Given the description of an element on the screen output the (x, y) to click on. 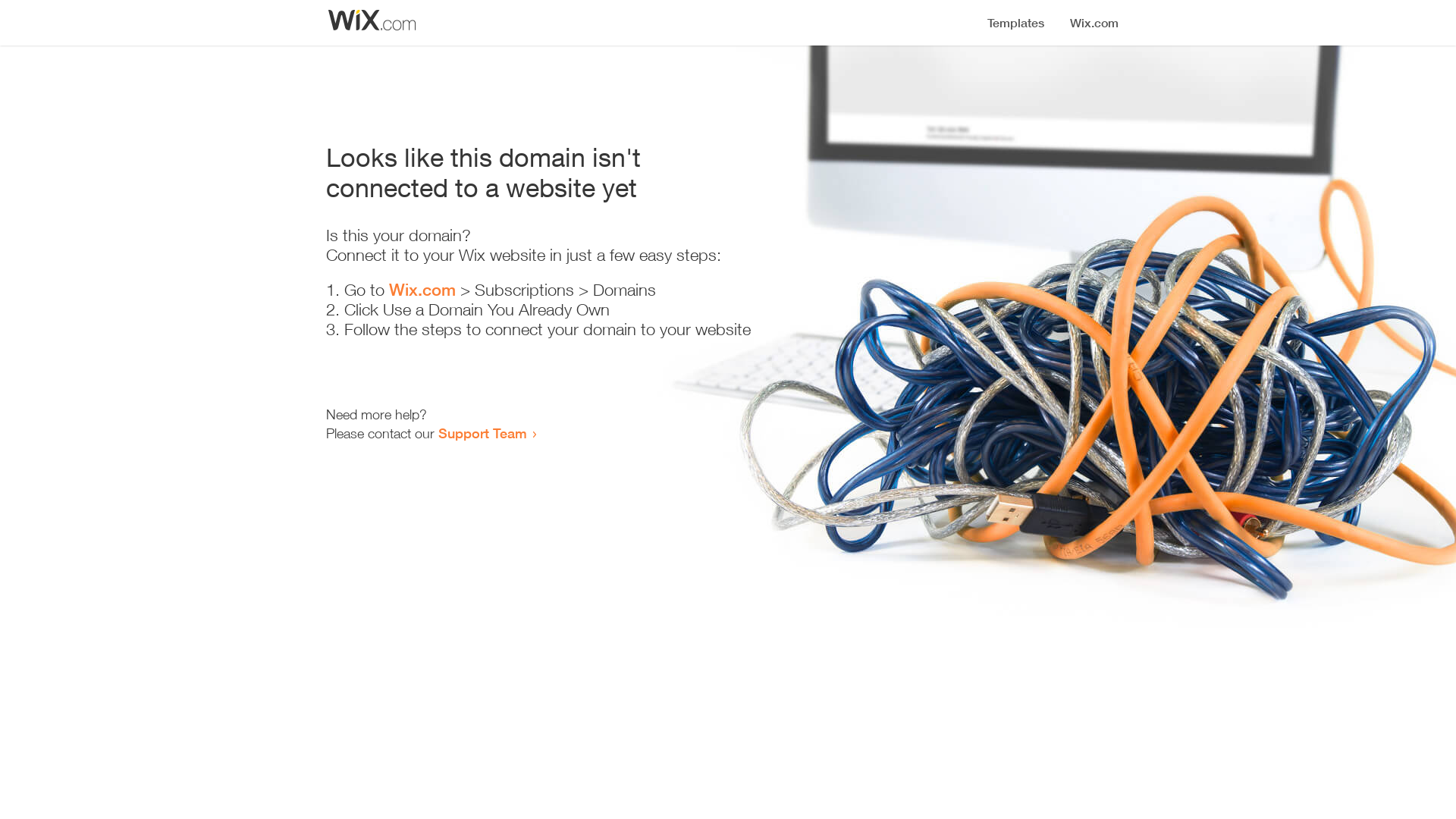
Support Team Element type: text (482, 432)
Wix.com Element type: text (422, 289)
